Given the description of an element on the screen output the (x, y) to click on. 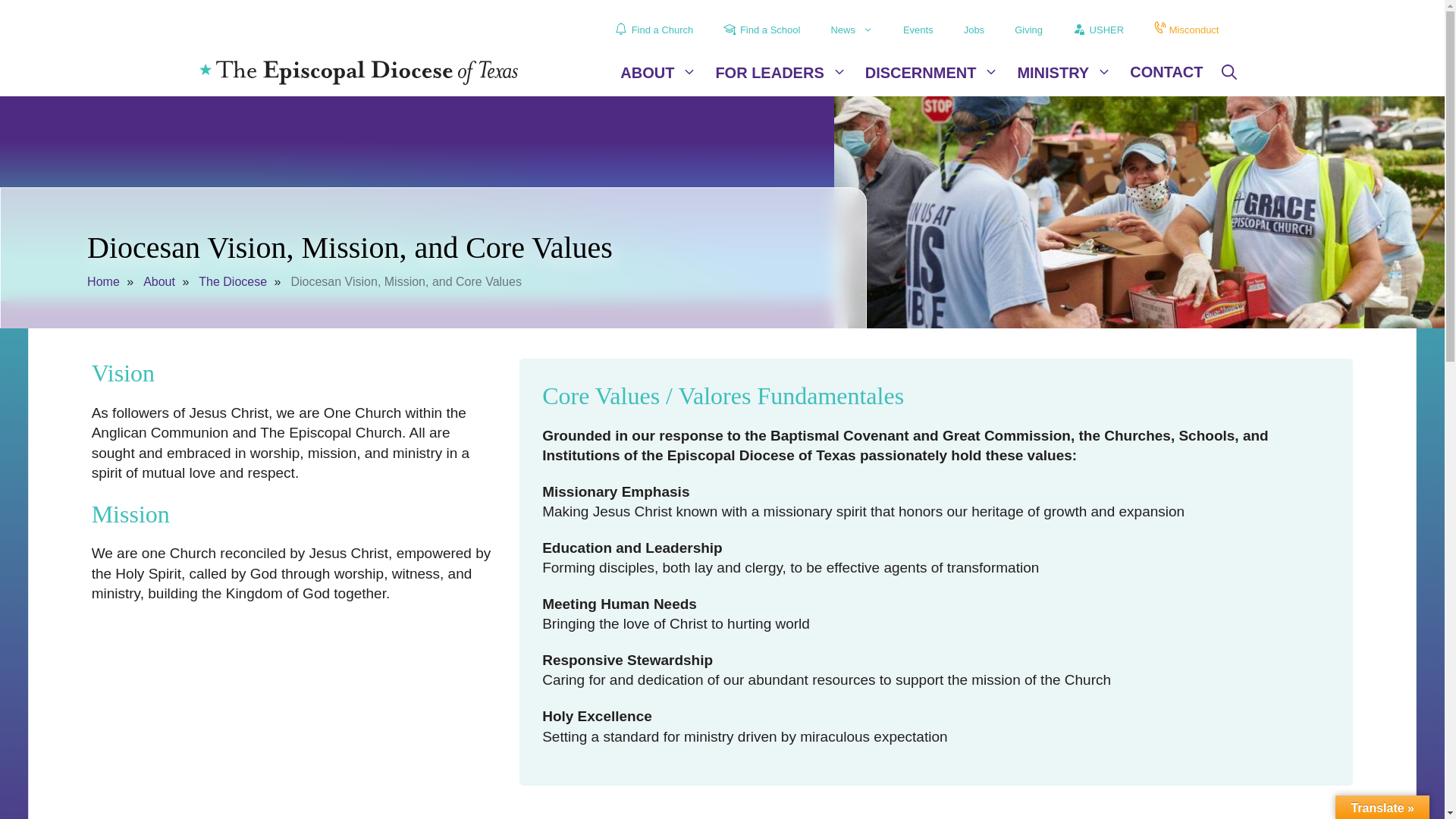
Find a Church (653, 30)
Jobs (973, 30)
Events (918, 30)
Find a School (761, 30)
News (851, 30)
Misconduct (1185, 30)
Giving (1028, 30)
USHER (1098, 30)
ABOUT (658, 72)
